Given the description of an element on the screen output the (x, y) to click on. 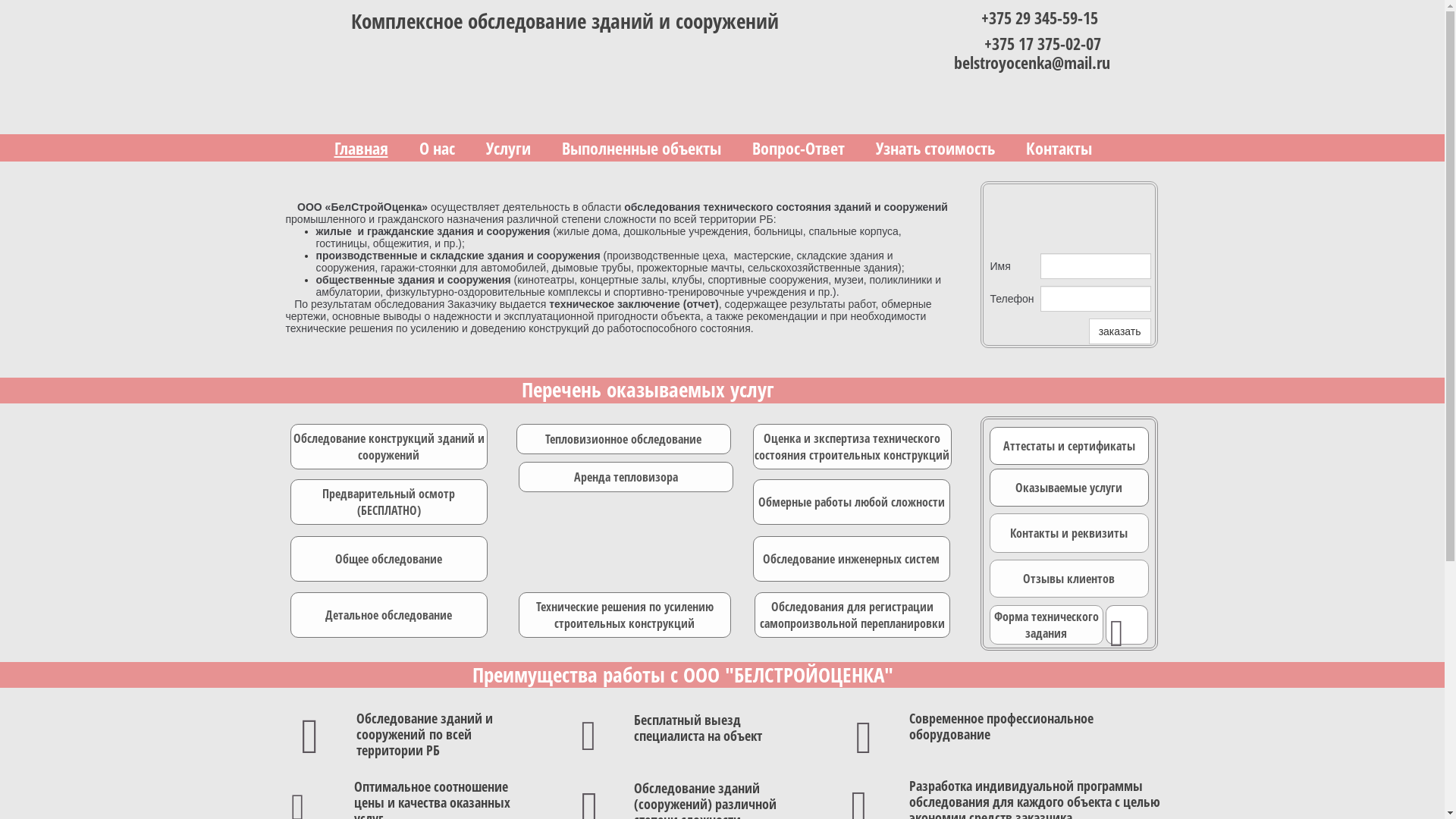
+375 17 375-02-07 Element type: text (1042, 42)
+375 29 345-59-15 Element type: text (1039, 17)
belstroyocenka@mail.ru Element type: text (1031, 61)
